Given the description of an element on the screen output the (x, y) to click on. 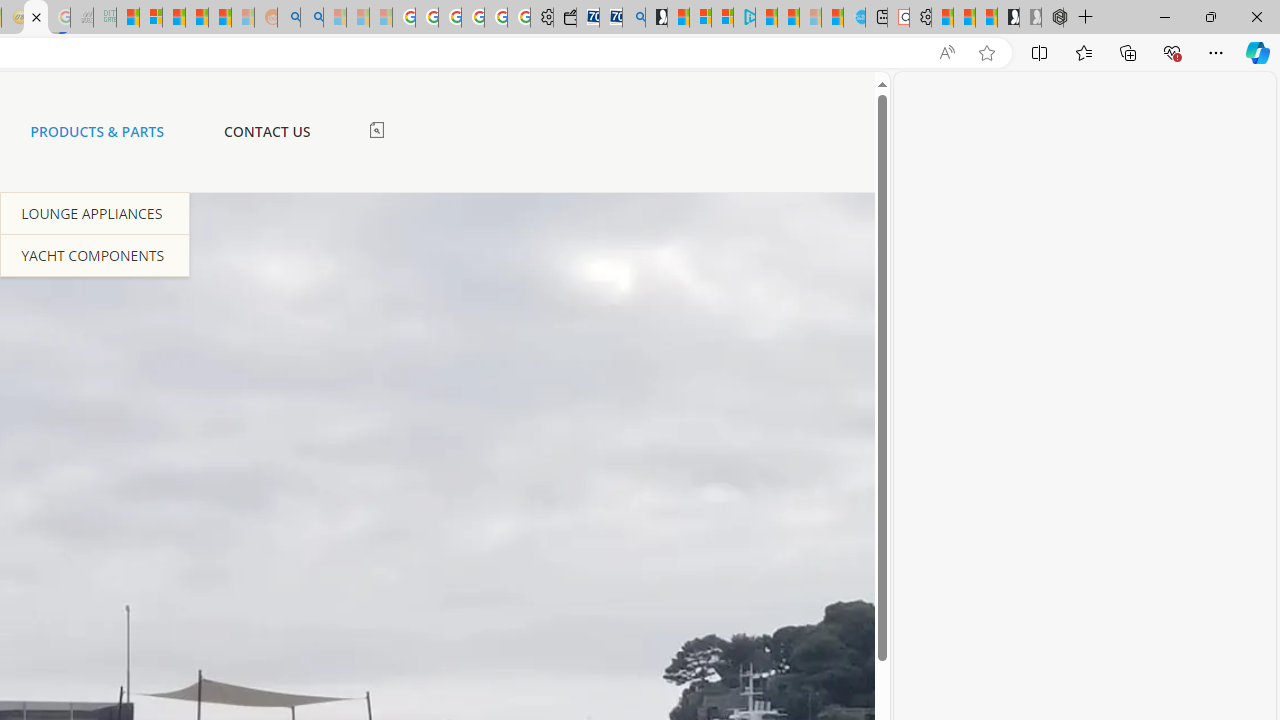
YACHT COMPONENTS (95, 254)
LOUNGE APPLIANCES (95, 213)
Utah sues federal government - Search (311, 17)
Navy Quest (81, 17)
Play Free Online Games | Games from Microsoft Start (1008, 17)
